Given the description of an element on the screen output the (x, y) to click on. 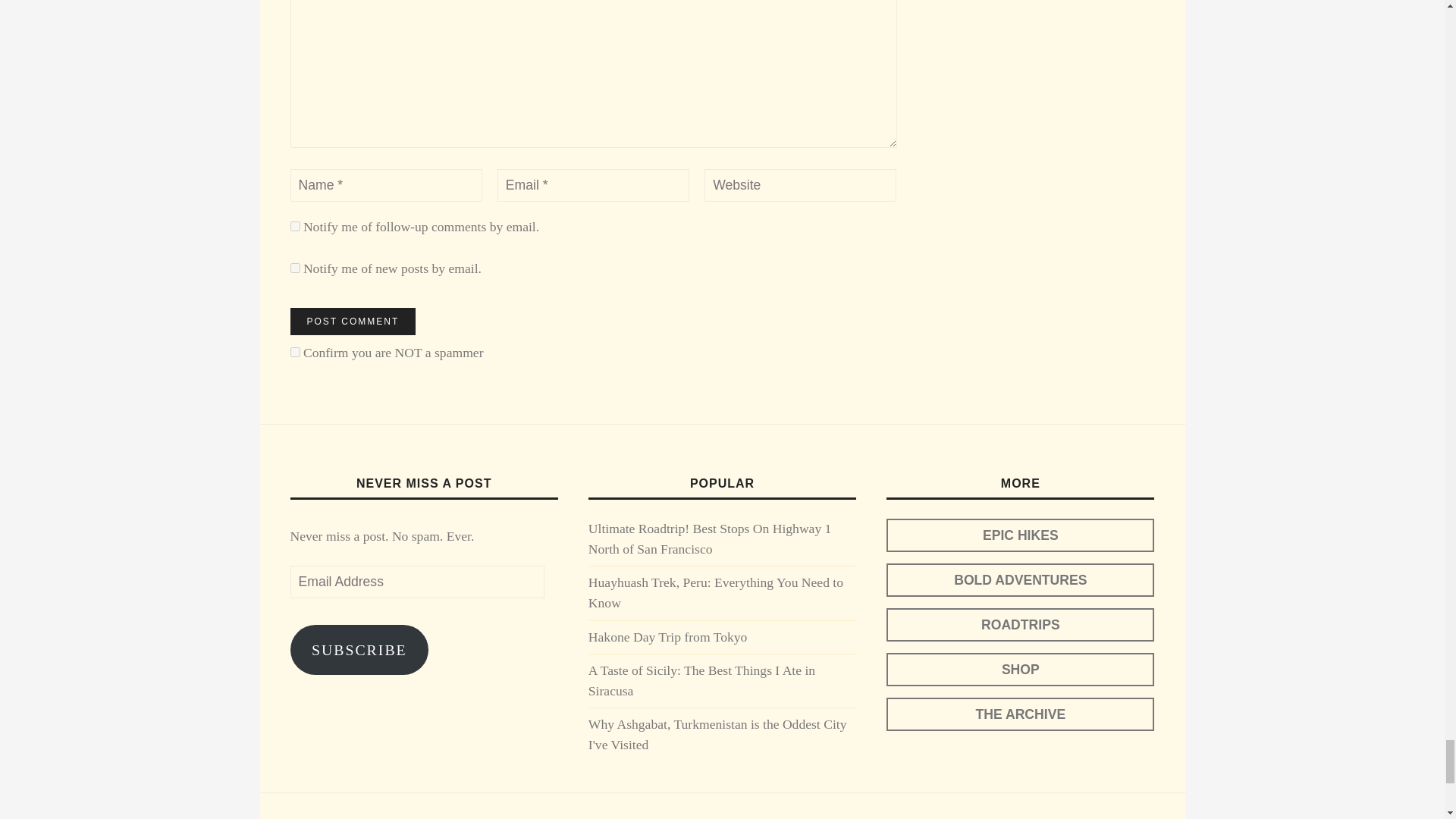
subscribe (294, 267)
subscribe (294, 225)
on (294, 352)
Post Comment (351, 320)
